Given the description of an element on the screen output the (x, y) to click on. 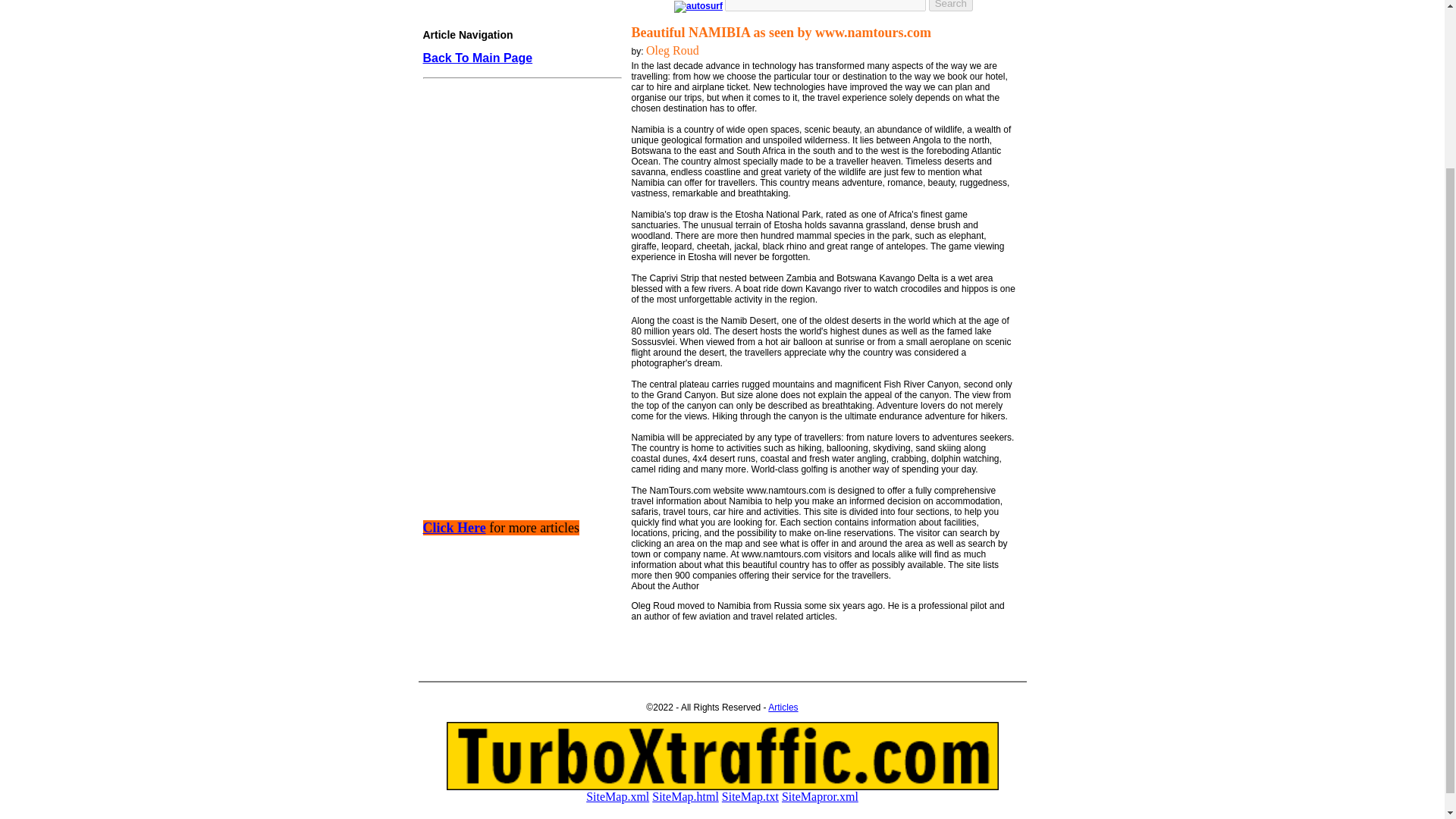
SiteMap.txt (750, 796)
Search (950, 5)
SiteMapror.xml (820, 796)
Advertisement (517, 387)
Click Here (454, 527)
Articles (782, 706)
Back To Main Page (477, 58)
Search (950, 5)
SiteMap.xml (617, 796)
SiteMap.html (685, 796)
